Given the description of an element on the screen output the (x, y) to click on. 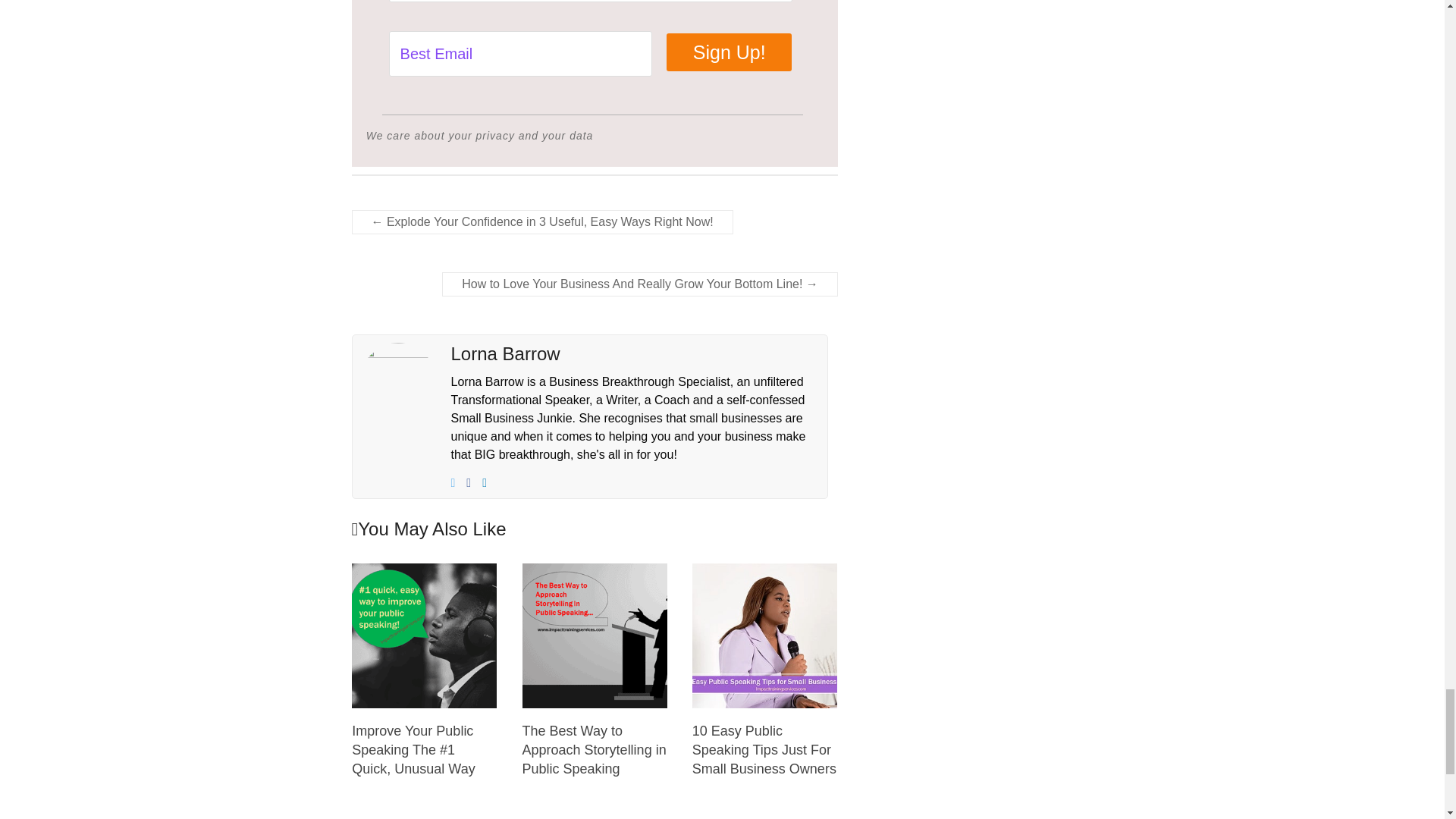
10 Easy Public Speaking Tips Just For Small Business Owners (765, 570)
10 Easy Public Speaking Tips Just For Small Business Owners (764, 749)
The Best Way to Approach  Storytelling in Public Speaking (594, 635)
The Best Way to Approach  Storytelling in Public Speaking (594, 570)
10 Easy Public Speaking Tips Just For Small Business Owners (765, 635)
The Best Way to Approach  Storytelling in Public Speaking (594, 749)
